Given the description of an element on the screen output the (x, y) to click on. 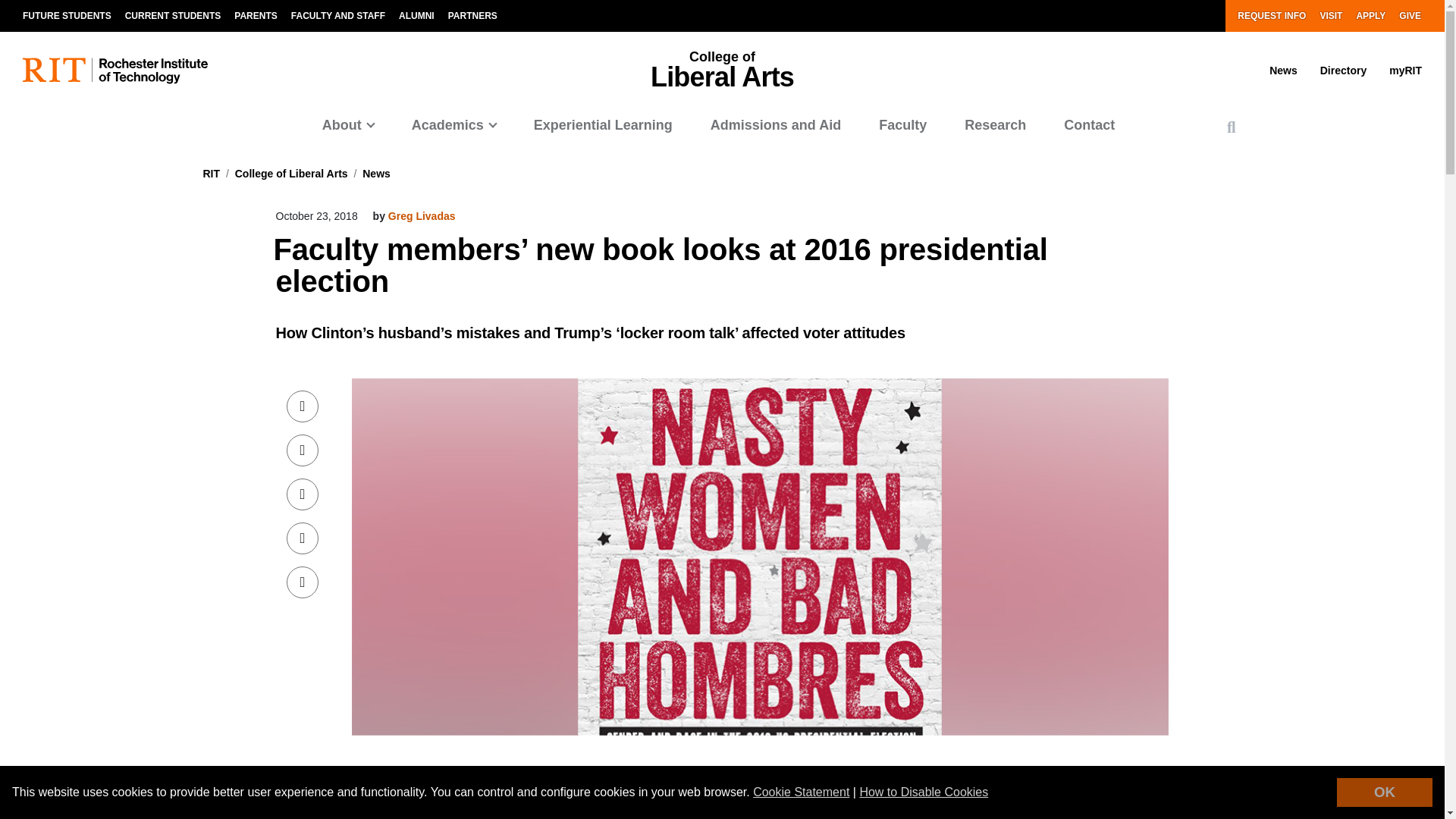
RIT logo and full name (115, 70)
